Given the description of an element on the screen output the (x, y) to click on. 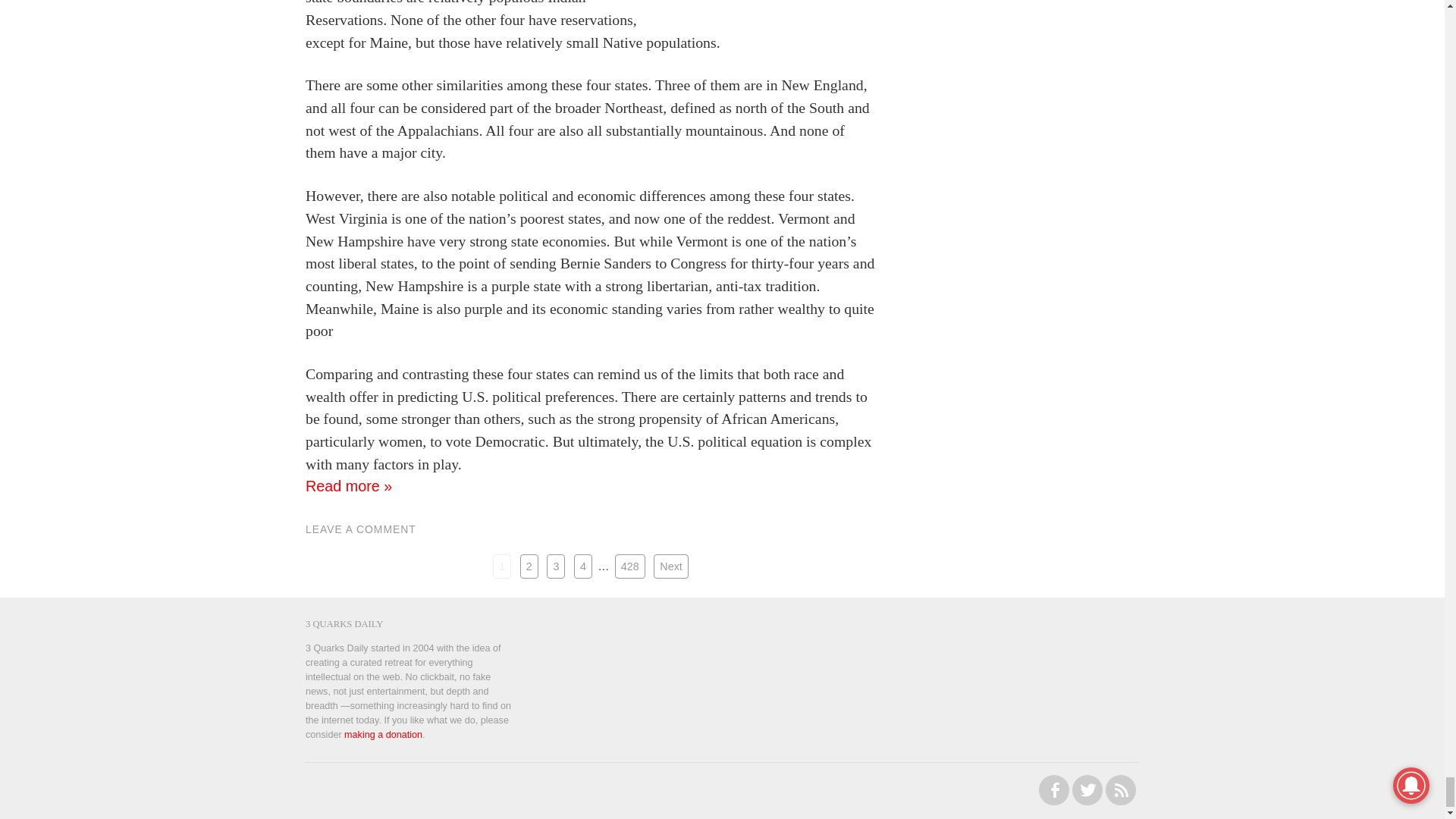
3rd party ad content (1034, 655)
